Given the description of an element on the screen output the (x, y) to click on. 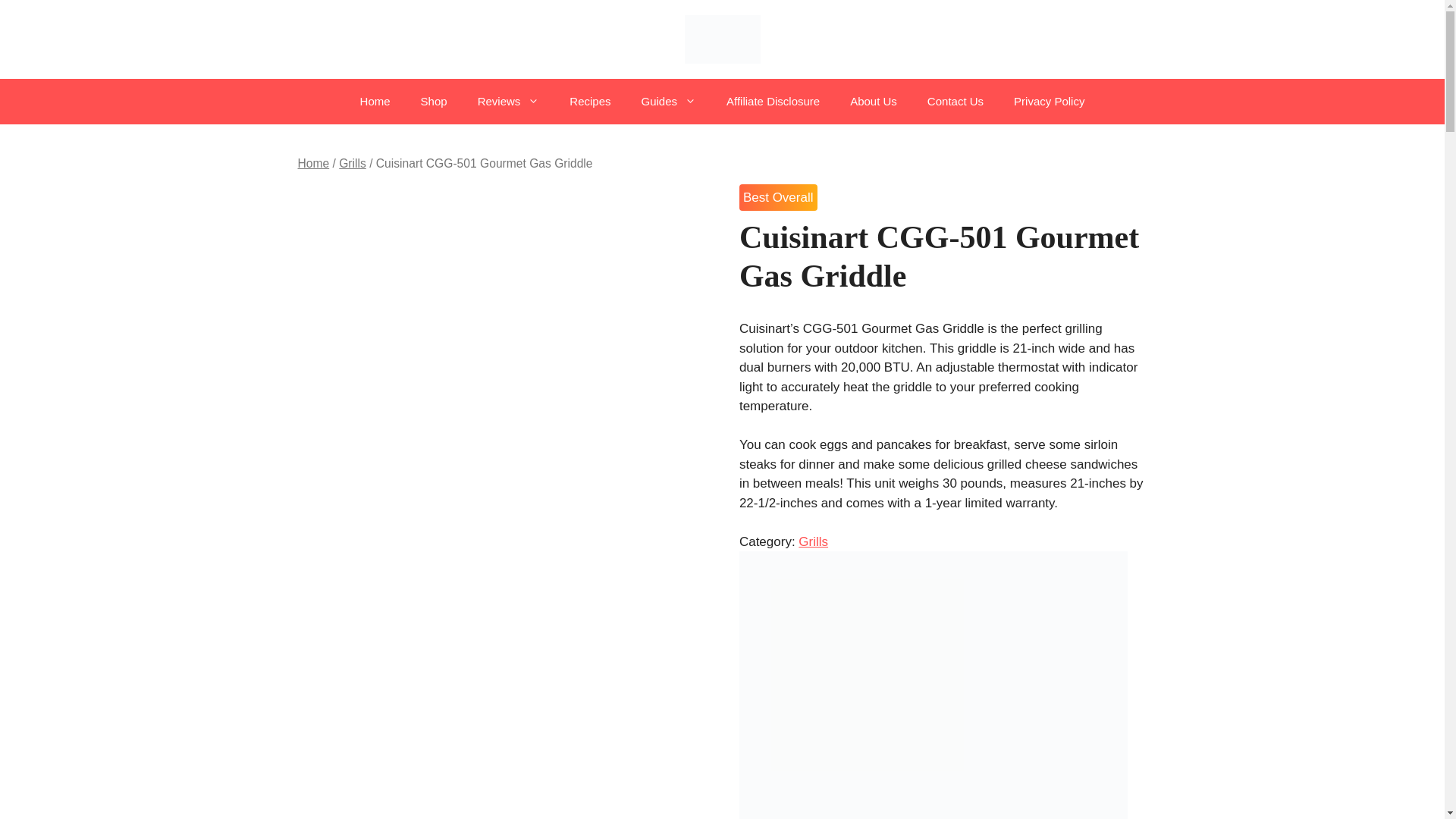
About Us (873, 101)
Reviews (508, 101)
Affiliate Disclosure (772, 101)
Guides (668, 101)
Grills (812, 541)
Recipes (590, 101)
Contact Us (955, 101)
Home (313, 163)
Grills (352, 163)
Shop (434, 101)
